Given the description of an element on the screen output the (x, y) to click on. 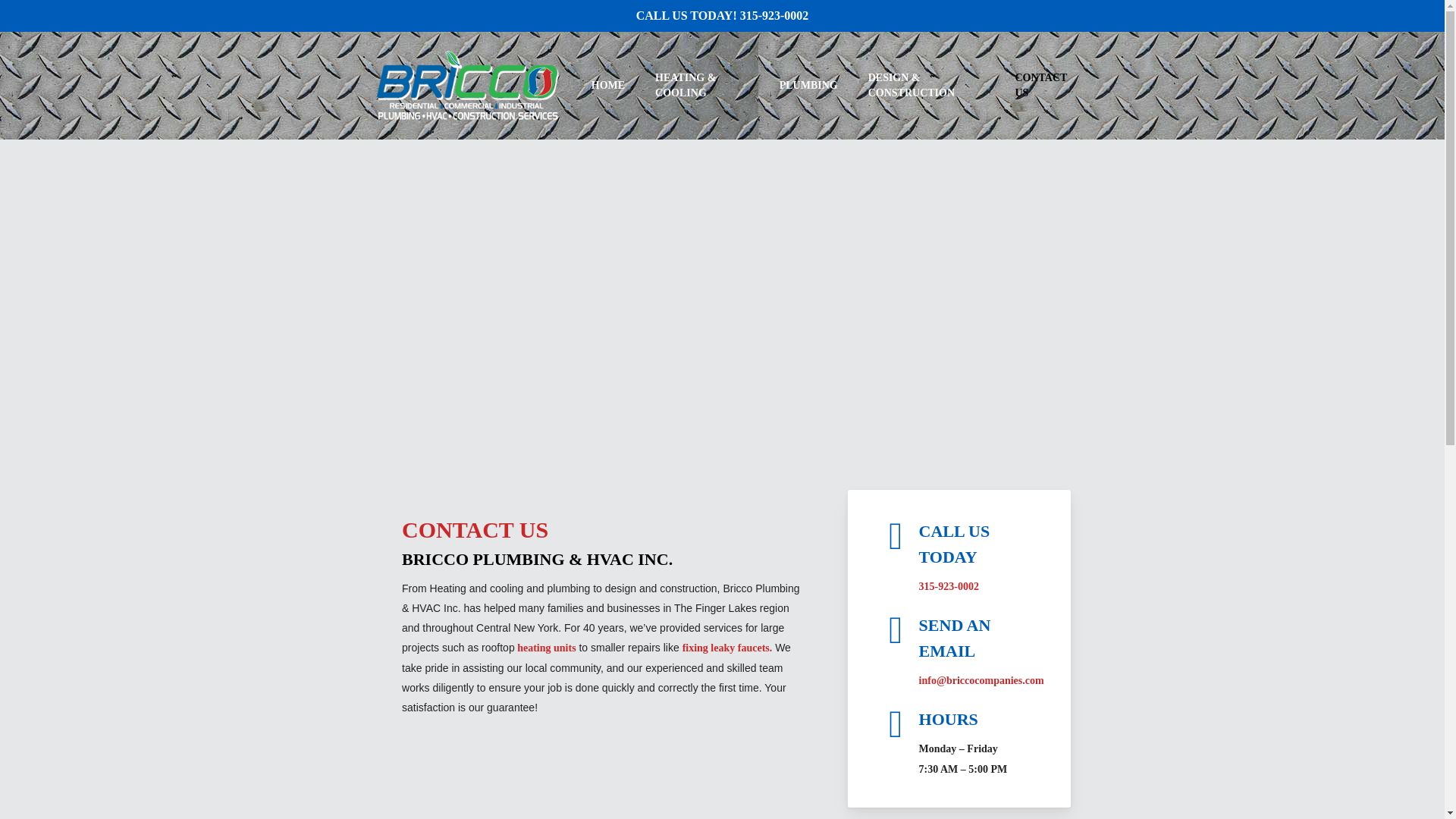
CALL US TODAY! 315-923-0002 (722, 15)
Home (699, 521)
315-923-0002 (948, 585)
315-923-0002 (825, 572)
HOME (850, 623)
Contact Us (608, 85)
CONTACT US (699, 624)
fixing leaky faucets. (1034, 85)
Plumbing (727, 647)
